Given the description of an element on the screen output the (x, y) to click on. 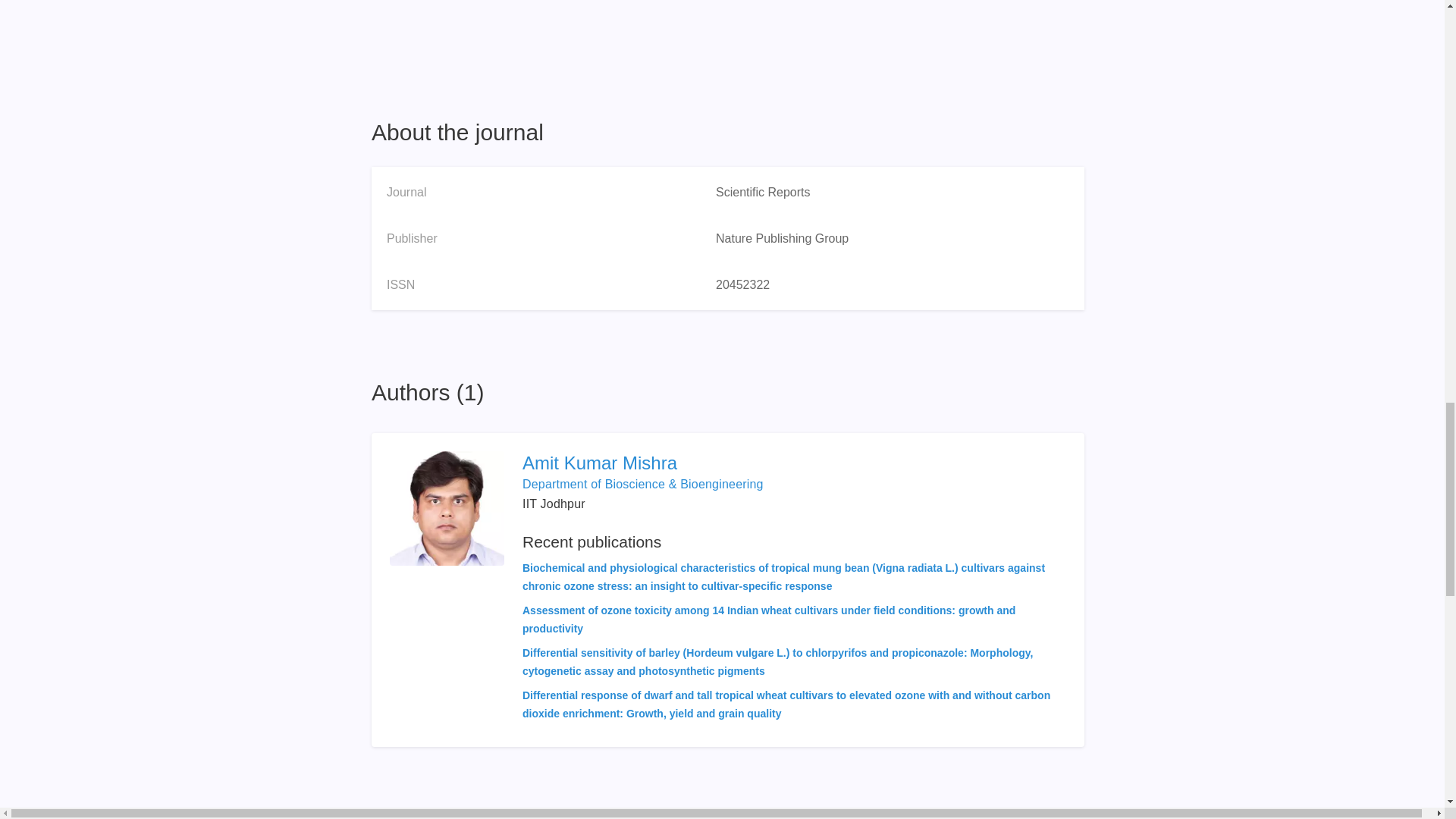
Amit Kumar Mishra (793, 463)
